Given the description of an element on the screen output the (x, y) to click on. 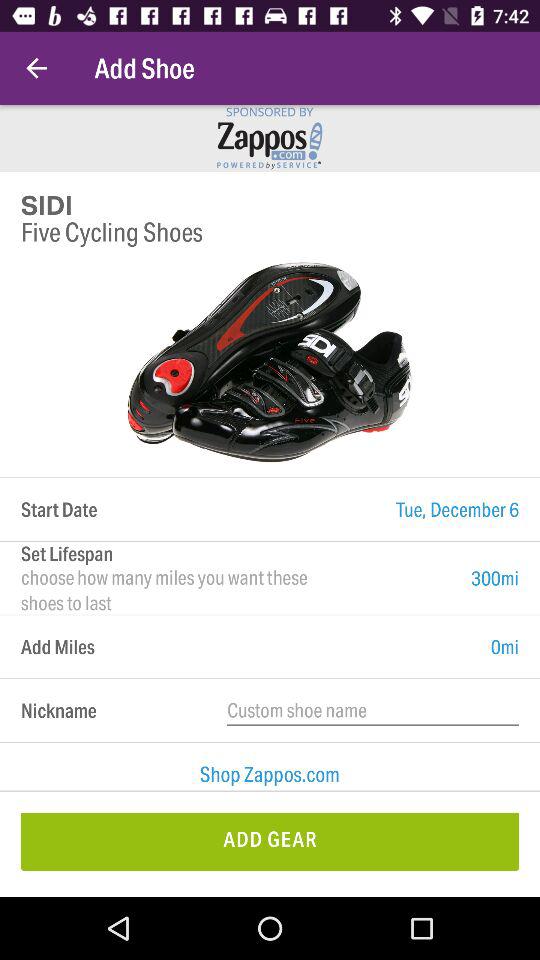
jump until add gear icon (270, 841)
